Given the description of an element on the screen output the (x, y) to click on. 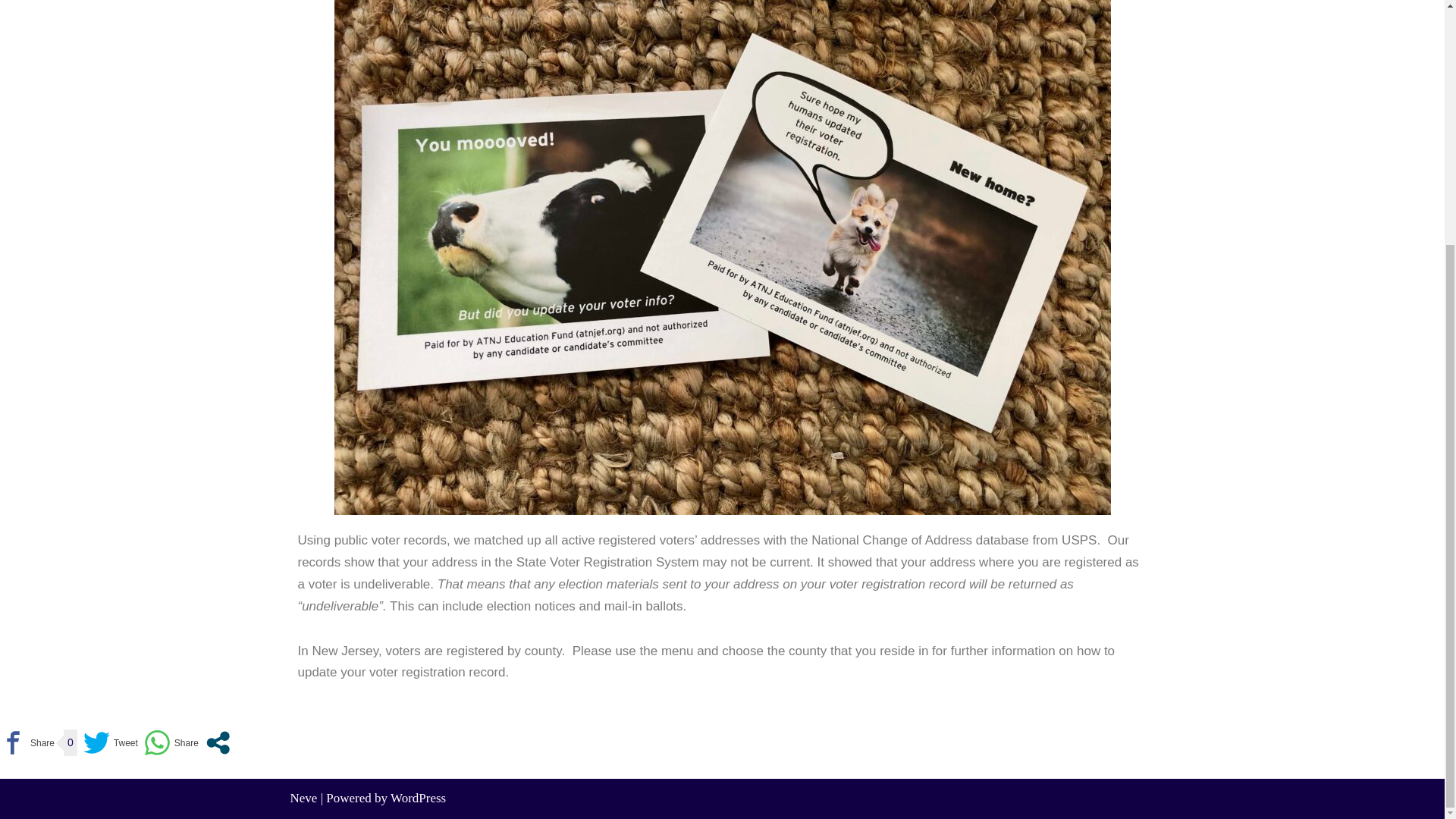
Share on Facebook (27, 742)
Tweet (110, 742)
WordPress (417, 798)
Neve (303, 798)
Open modal social networks (218, 742)
Share on WhatsApp (171, 742)
